Given the description of an element on the screen output the (x, y) to click on. 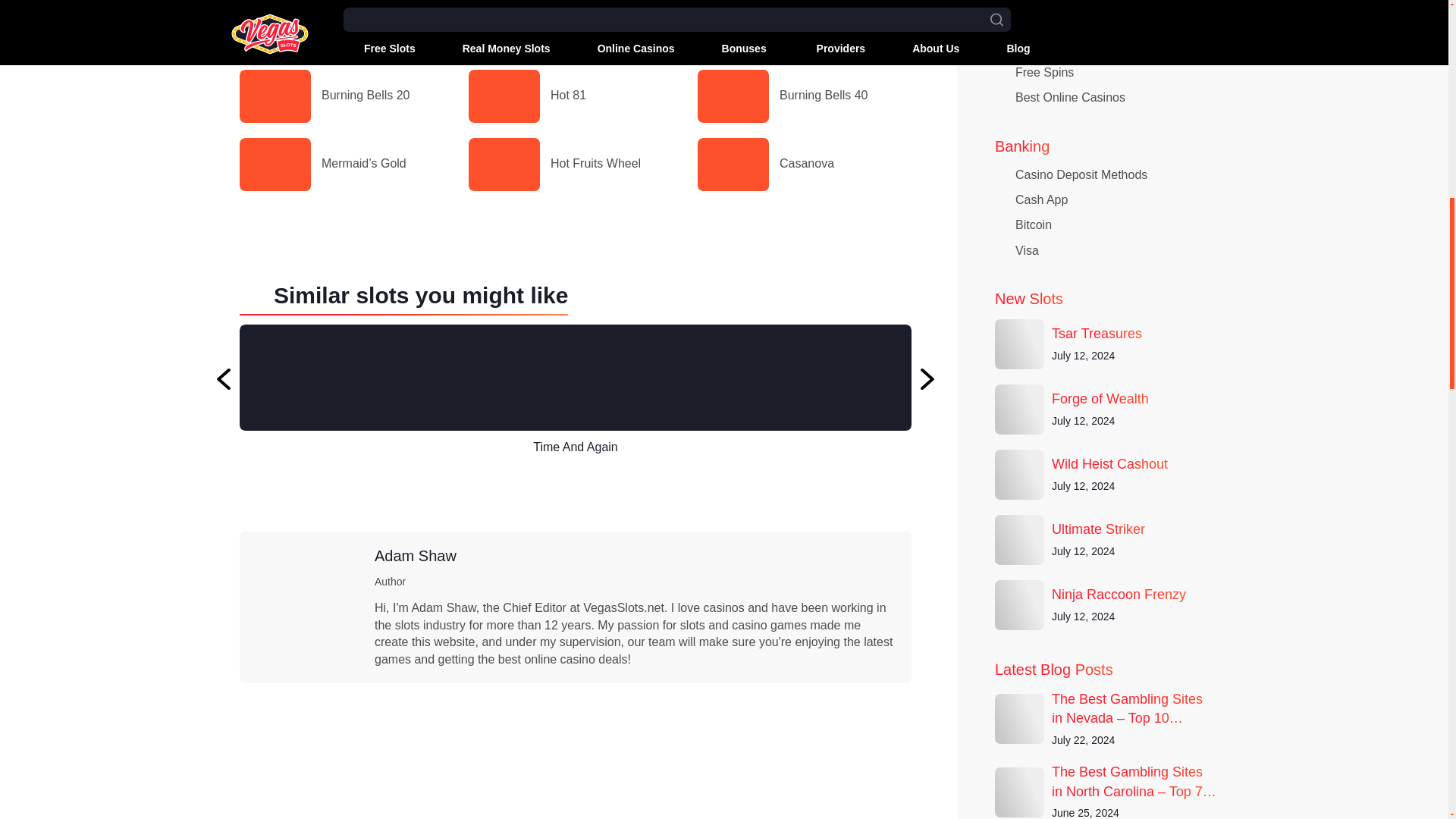
Posts By Adam Shaw (415, 555)
